Given the description of an element on the screen output the (x, y) to click on. 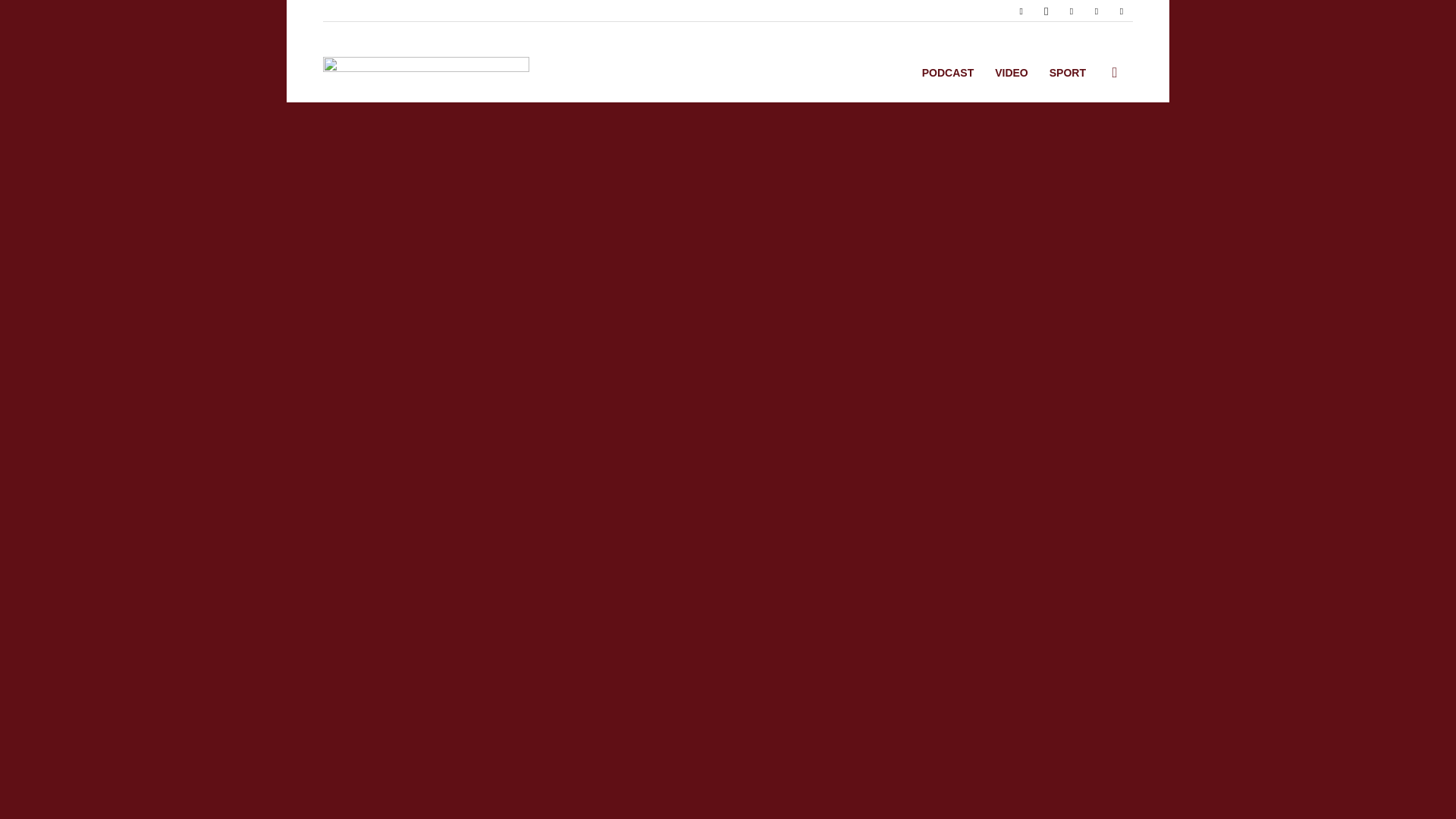
The Long Hall Podcast (426, 61)
Mail (1071, 10)
Facebook (1021, 10)
Twitter (1096, 10)
Instagram (1046, 10)
Youtube (1120, 10)
